Given the description of an element on the screen output the (x, y) to click on. 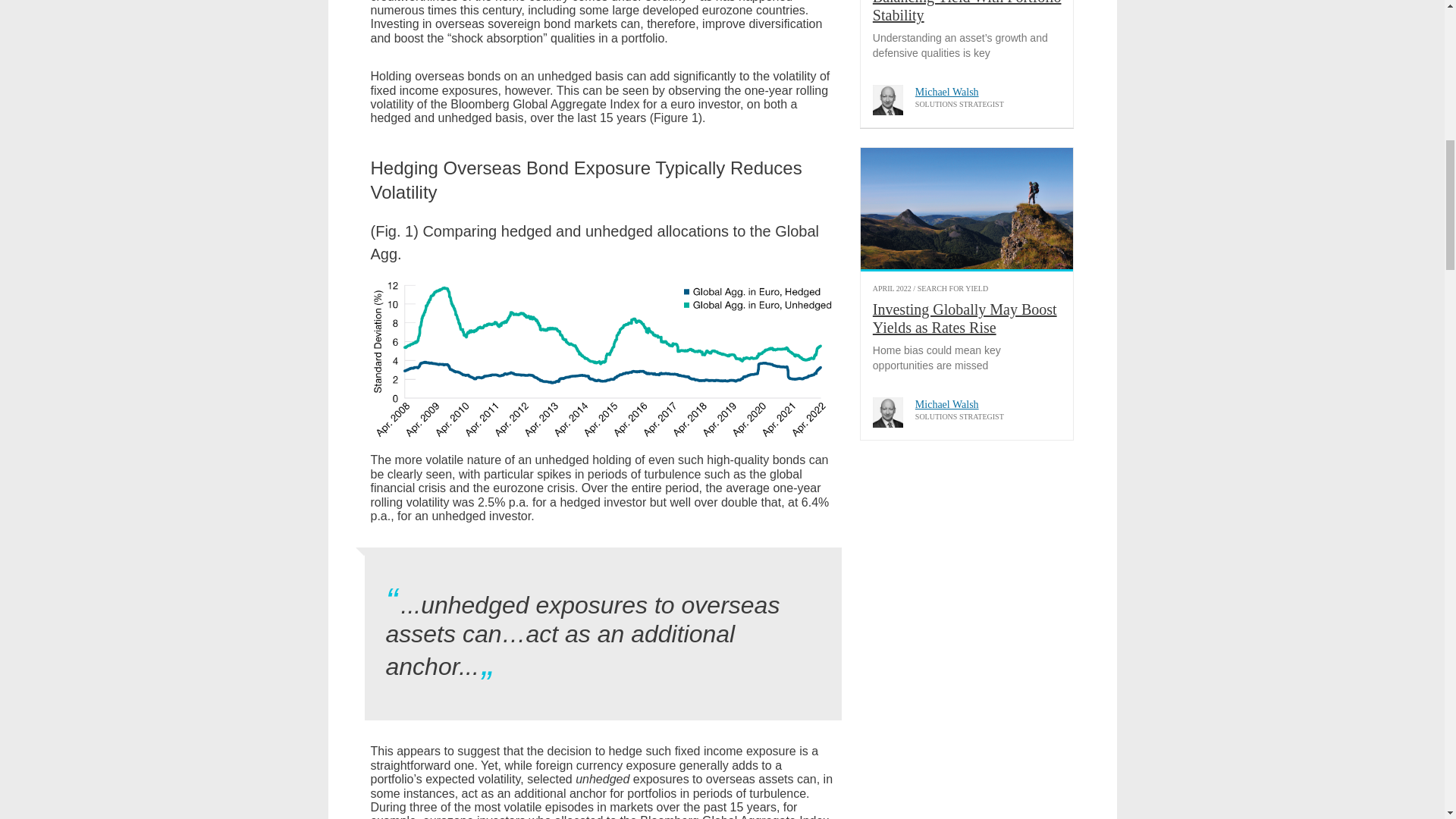
Michael Walsh (887, 412)
Michael Walsh (887, 100)
